Given the description of an element on the screen output the (x, y) to click on. 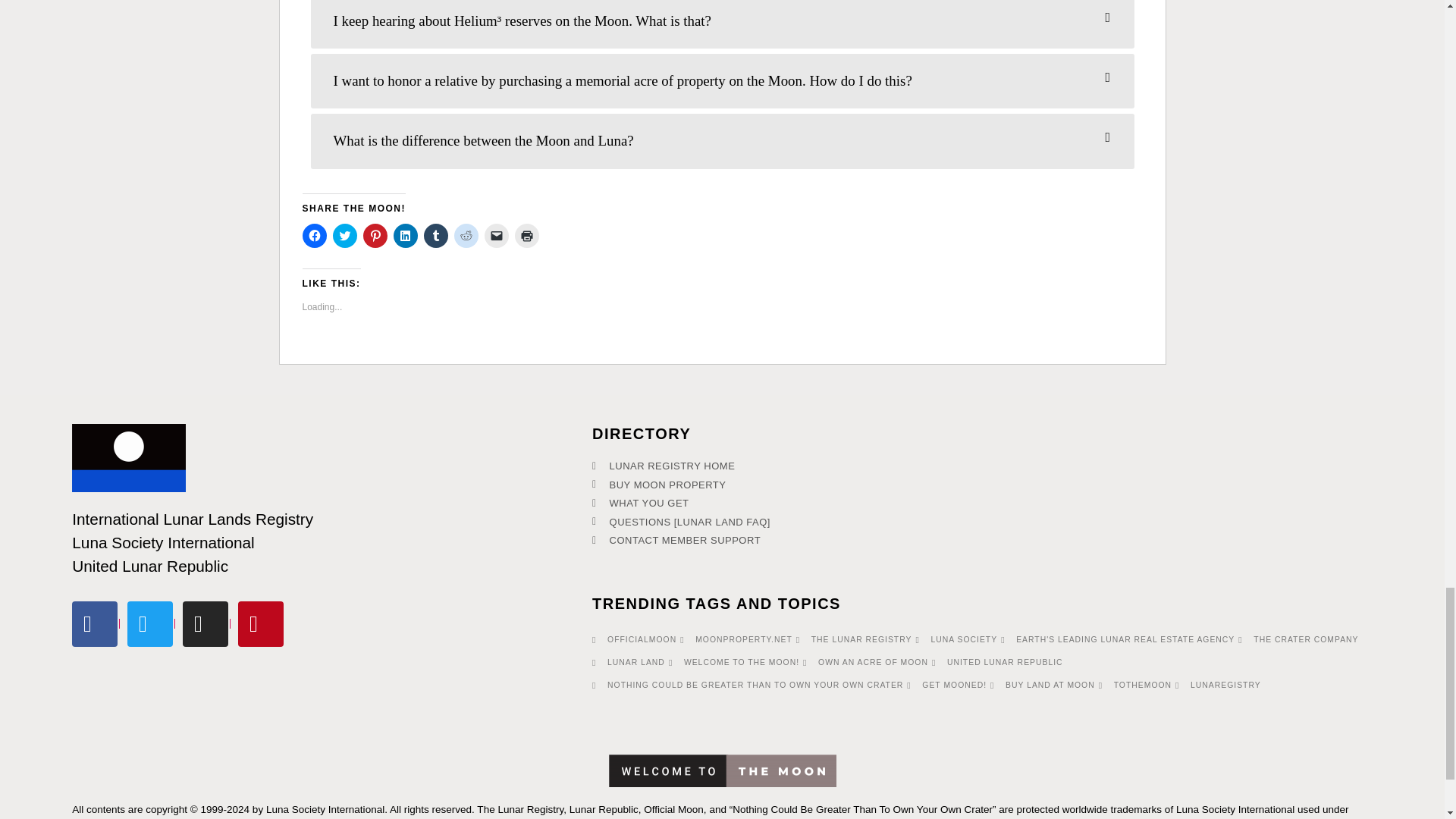
Click to share on Tumblr (434, 235)
Click to share on Twitter (343, 235)
Click to email a link to a friend (495, 235)
Click to print (525, 235)
Click to share on Reddit (464, 235)
Click to share on Facebook (313, 235)
Click to share on LinkedIn (404, 235)
Click to share on Pinterest (374, 235)
